Given the description of an element on the screen output the (x, y) to click on. 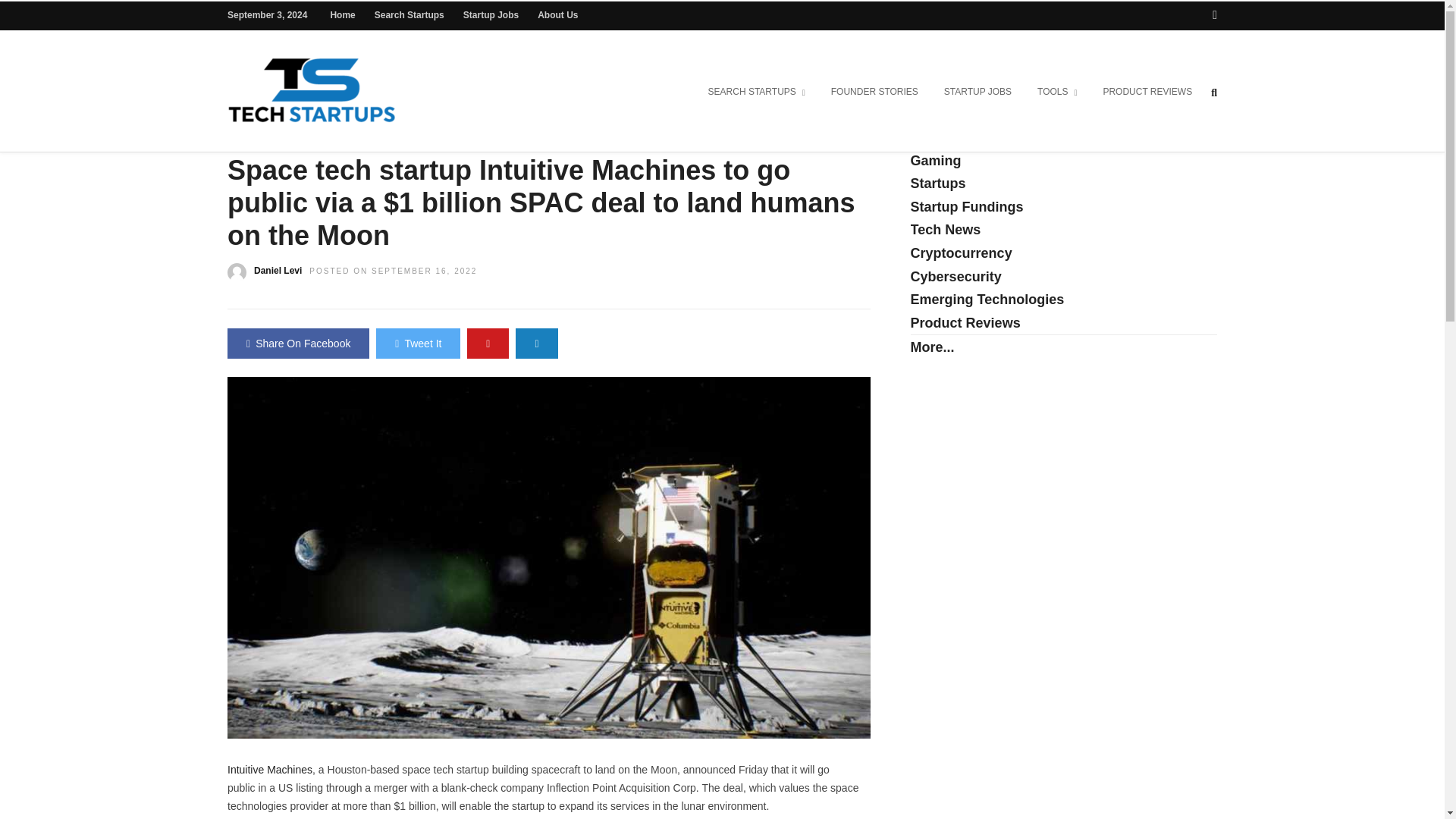
Home (342, 14)
Daniel Levi (277, 270)
Share On Facebook (298, 343)
Search Startups (409, 14)
Share by Email (536, 343)
SPACE (358, 122)
Tweet It (417, 343)
HOME (243, 122)
STARTUP FUNDING (435, 122)
About Us (557, 14)
